Given the description of an element on the screen output the (x, y) to click on. 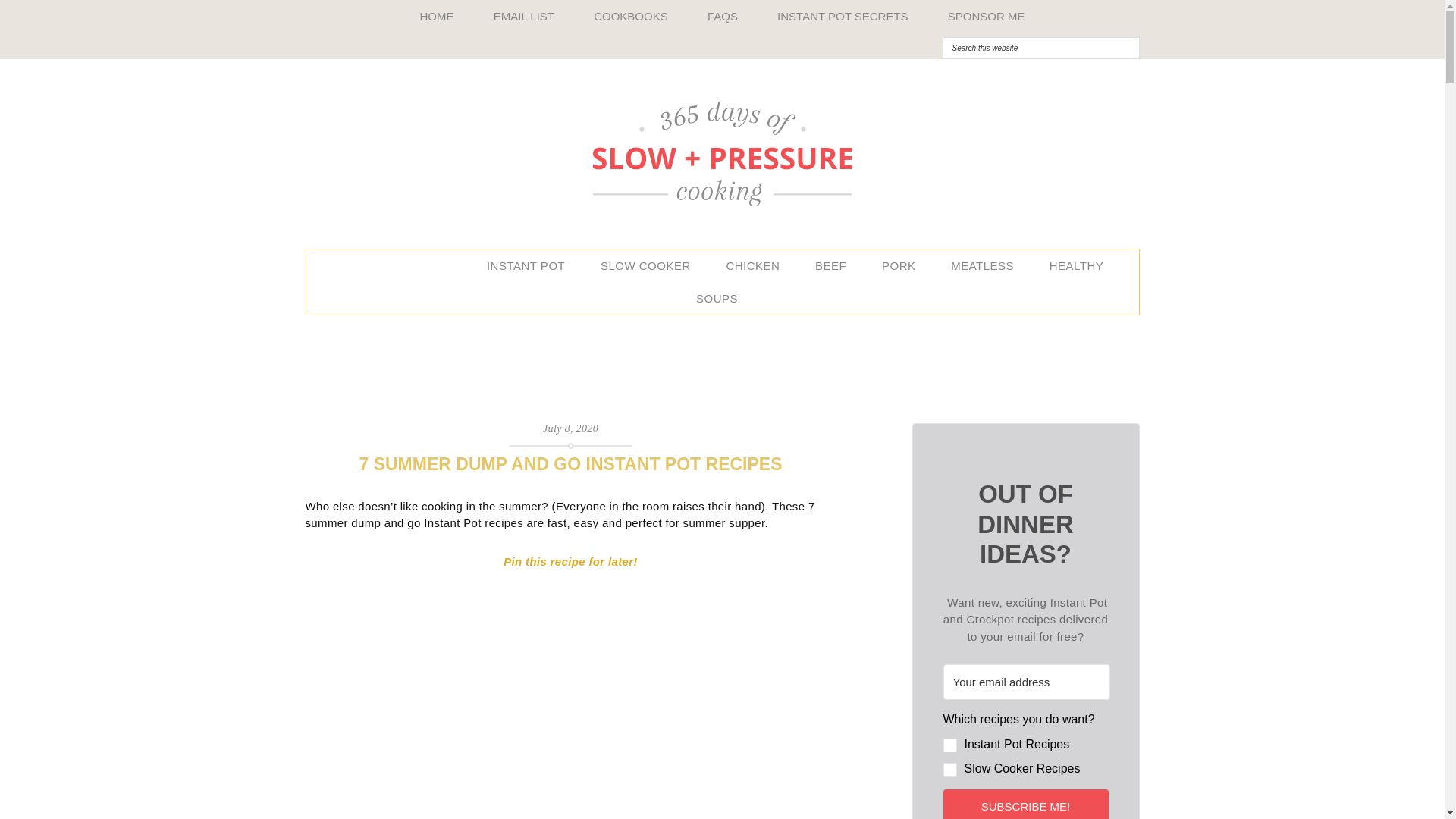
BEEF (836, 265)
COOKBOOKS (630, 16)
INSTANT POT SECRETS (842, 16)
SLOW COOKER (650, 265)
SPONSOR ME (986, 16)
INSTANT POT (531, 265)
HEALTHY (1082, 265)
365 Days of Slow Cooking and Pressure Cooking (721, 153)
